Given the description of an element on the screen output the (x, y) to click on. 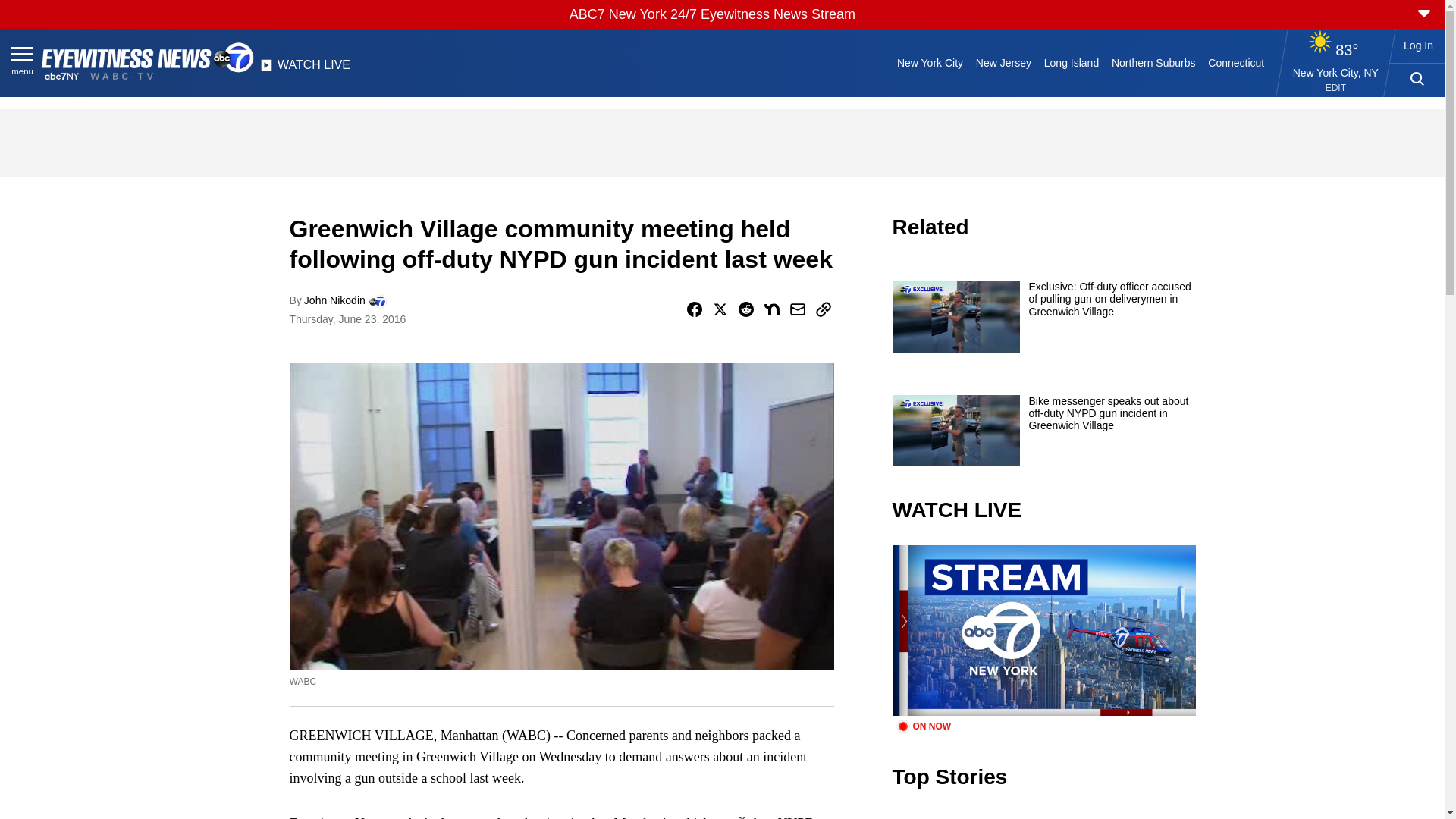
Connecticut (1236, 62)
New York City, NY (1335, 72)
New York City (930, 62)
Northern Suburbs (1153, 62)
WATCH LIVE (305, 69)
New Jersey (1002, 62)
EDIT (1334, 87)
Long Island (1070, 62)
